Given the description of an element on the screen output the (x, y) to click on. 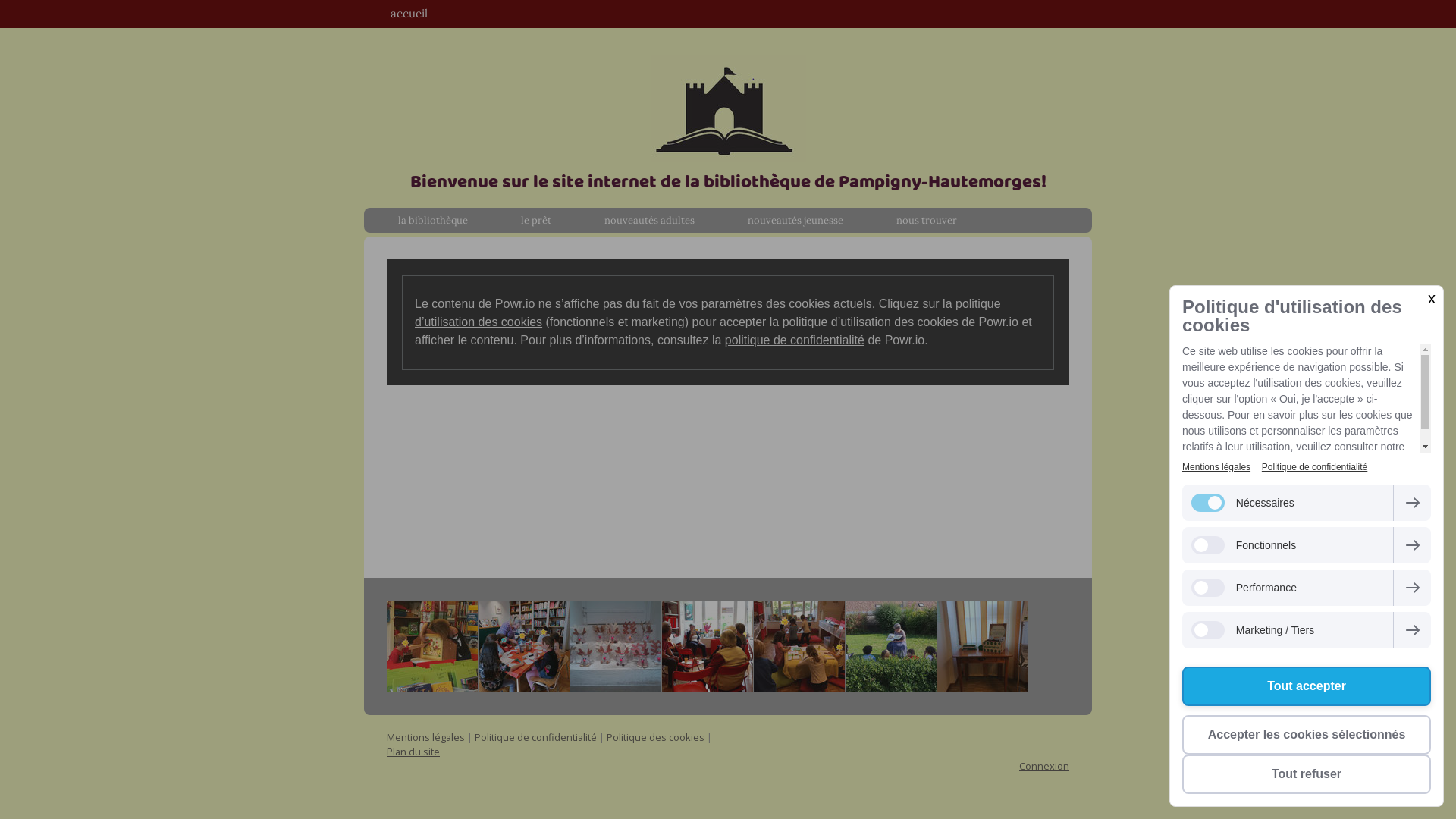
Connexion Element type: text (1044, 765)
Tout accepter Element type: text (1306, 686)
Tout refuser Element type: text (1306, 773)
accueil Element type: text (409, 14)
nous trouver Element type: text (926, 220)
Plan du site Element type: text (412, 751)
Politique des cookies Element type: text (655, 736)
